Given the description of an element on the screen output the (x, y) to click on. 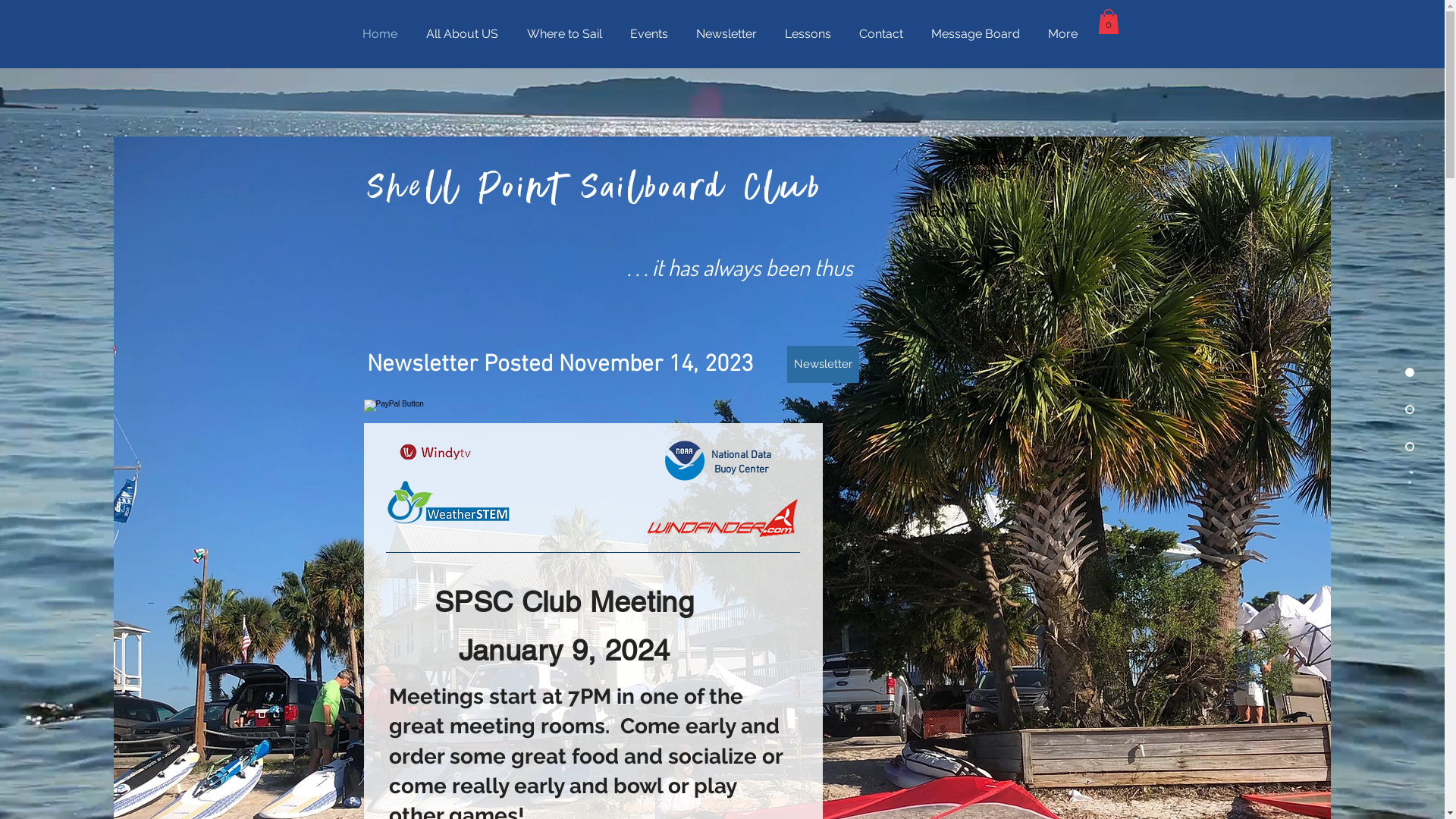
Home Element type: text (382, 33)
0 Element type: text (1108, 21)
Newsletter Element type: text (823, 363)
Newsletter Element type: text (728, 33)
Lessons Element type: text (810, 33)
Where to Sail Element type: text (566, 33)
Embedded Content Element type: hover (1005, 204)
All About US Element type: text (464, 33)
Contact Element type: text (883, 33)
Events Element type: text (651, 33)
Message Board Element type: text (977, 33)
